Given the description of an element on the screen output the (x, y) to click on. 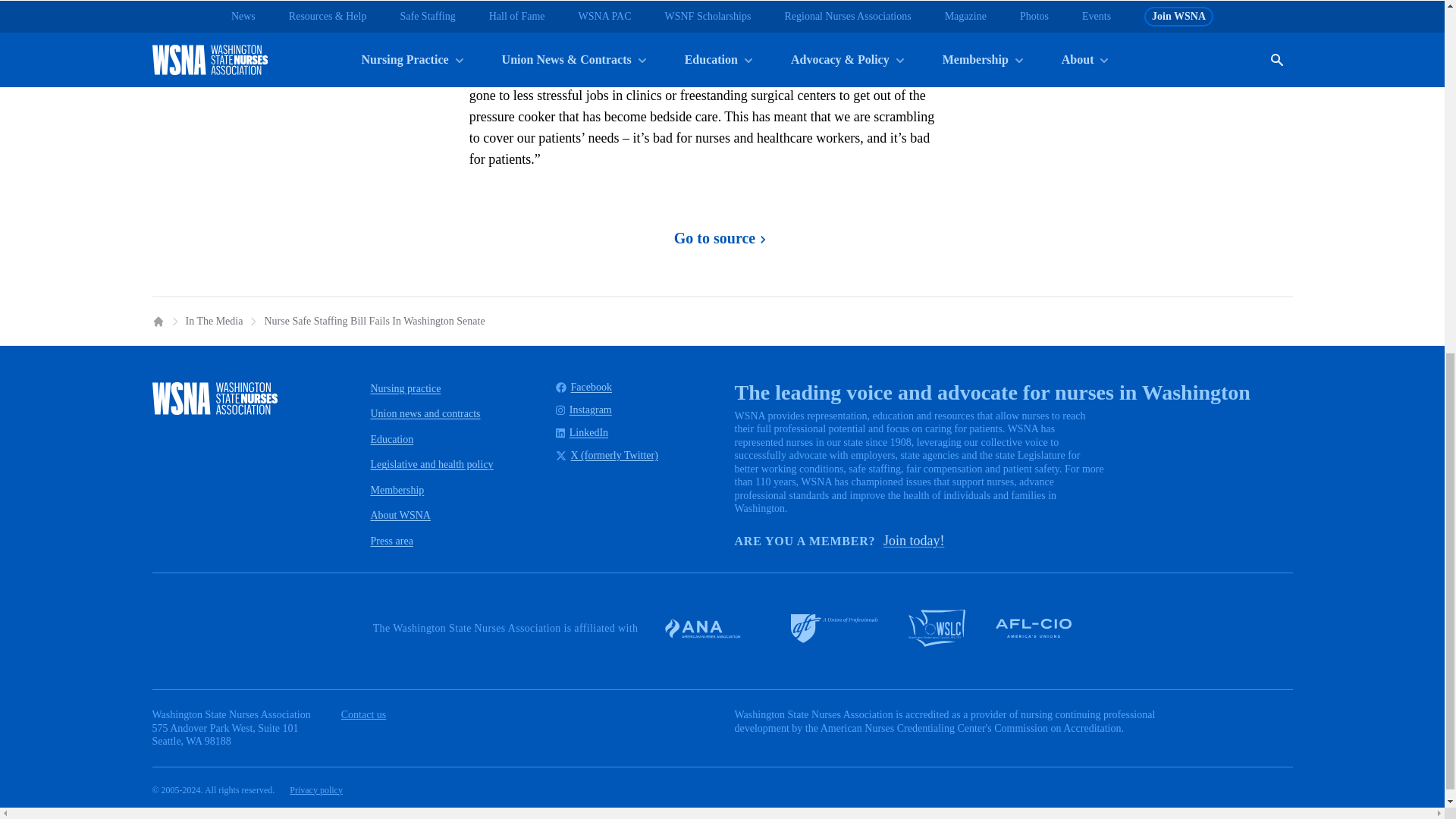
AFL-CIO (1033, 628)
American Nurses Association (711, 628)
Washington State Labor Council (936, 627)
AFT - A Union of Professionals (833, 628)
Washington State Nurses Association (213, 398)
